Given the description of an element on the screen output the (x, y) to click on. 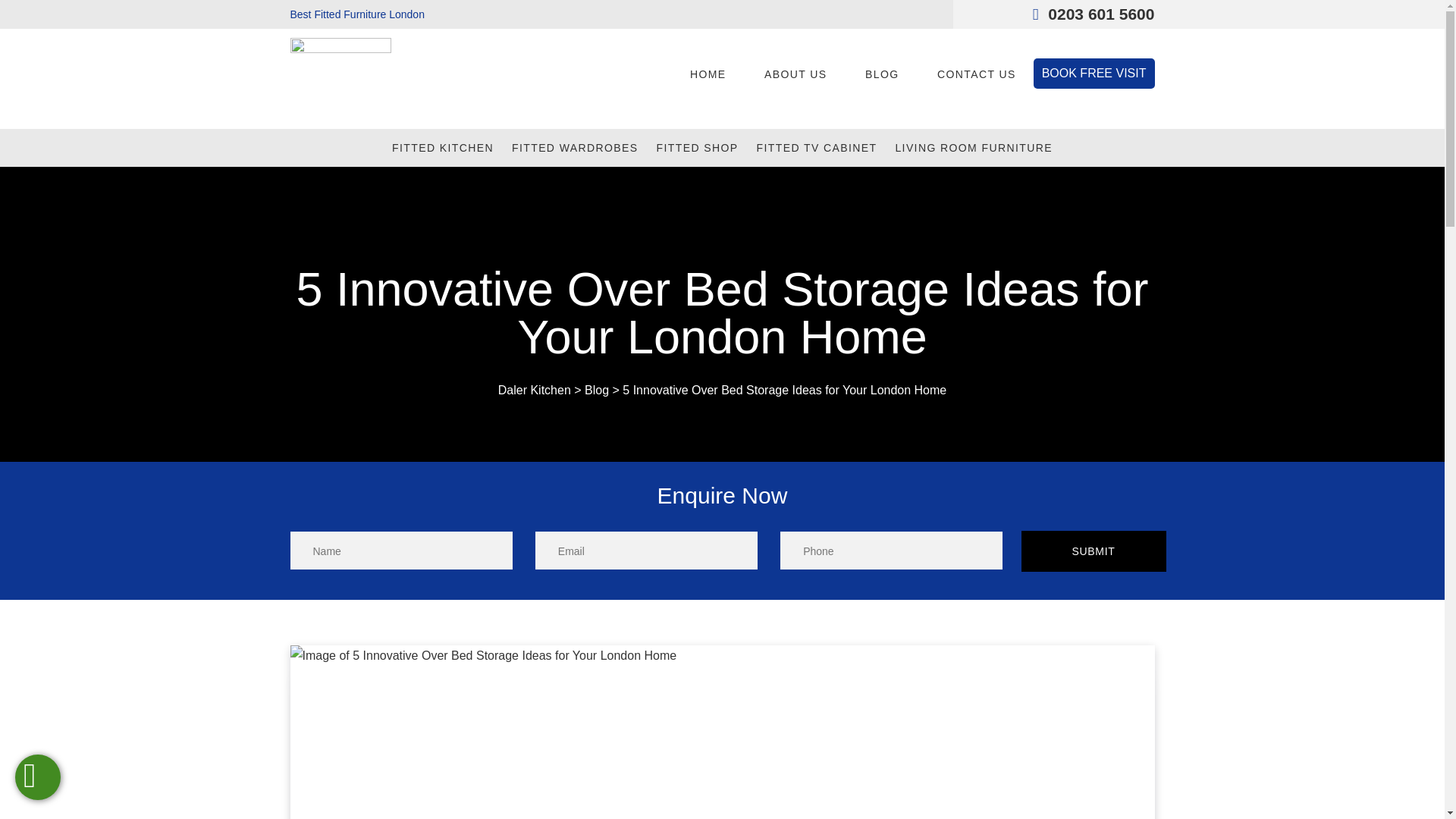
FITTED WARDROBES (574, 147)
Go to Blog. (596, 390)
Submit (1093, 550)
Best Fitted Furniture London (356, 14)
0203 601 5600 (1093, 13)
BOOK FREE VISIT (1093, 73)
FITTED KITCHEN (442, 147)
Go to Daler Kitchen. (533, 390)
